Given the description of an element on the screen output the (x, y) to click on. 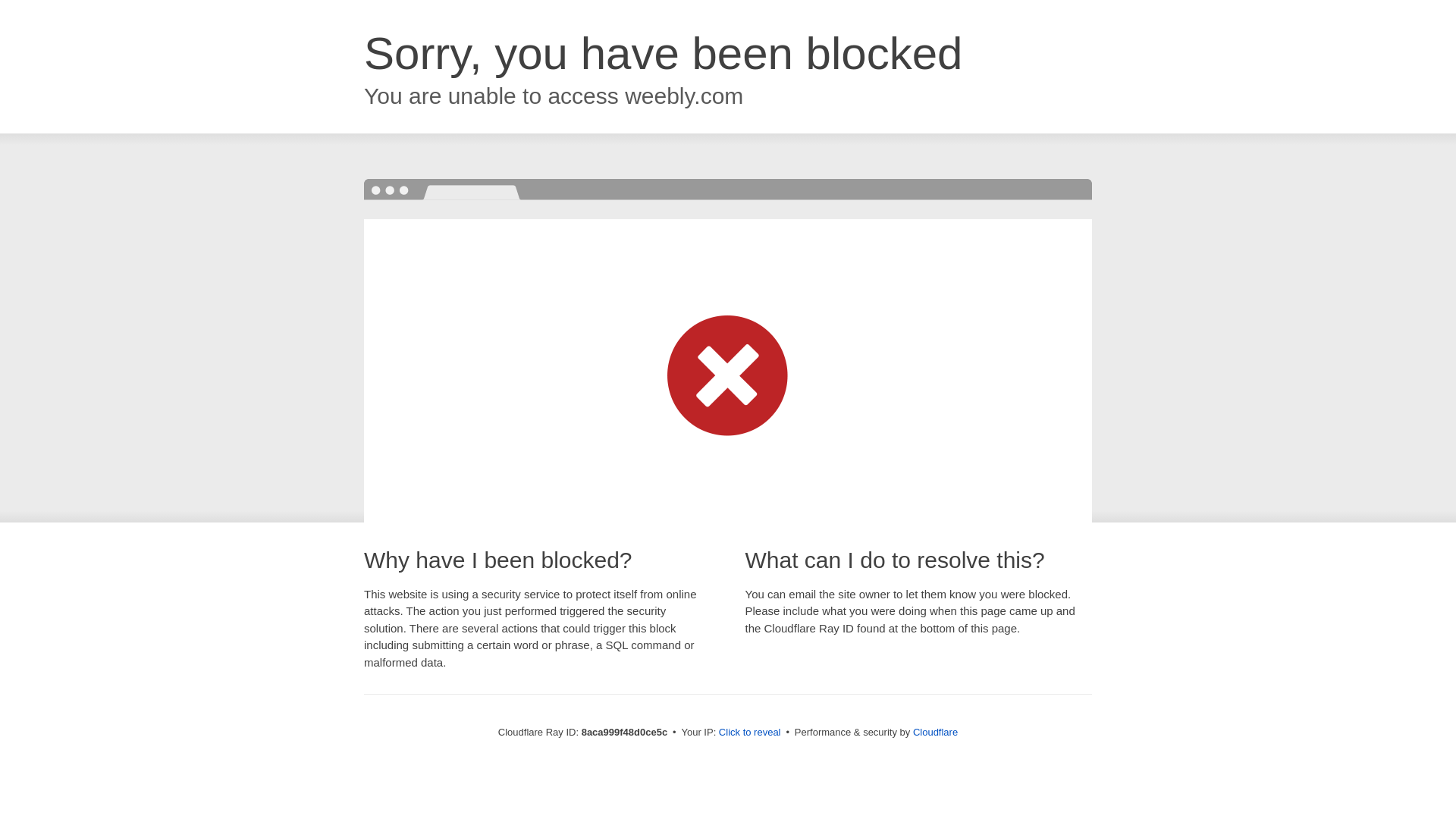
Cloudflare (935, 731)
Click to reveal (749, 732)
